Given the description of an element on the screen output the (x, y) to click on. 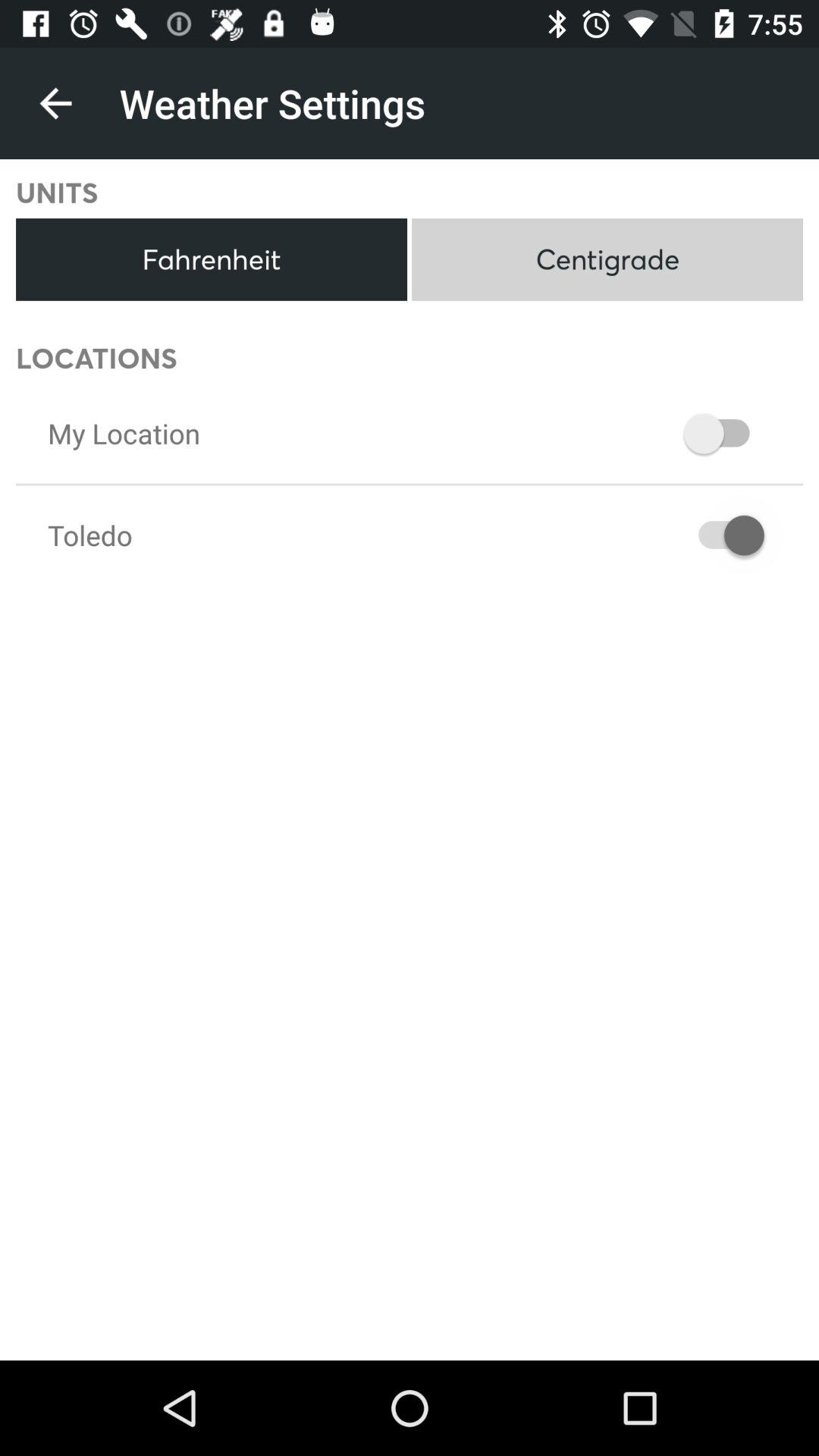
flip until the my location icon (123, 433)
